Given the description of an element on the screen output the (x, y) to click on. 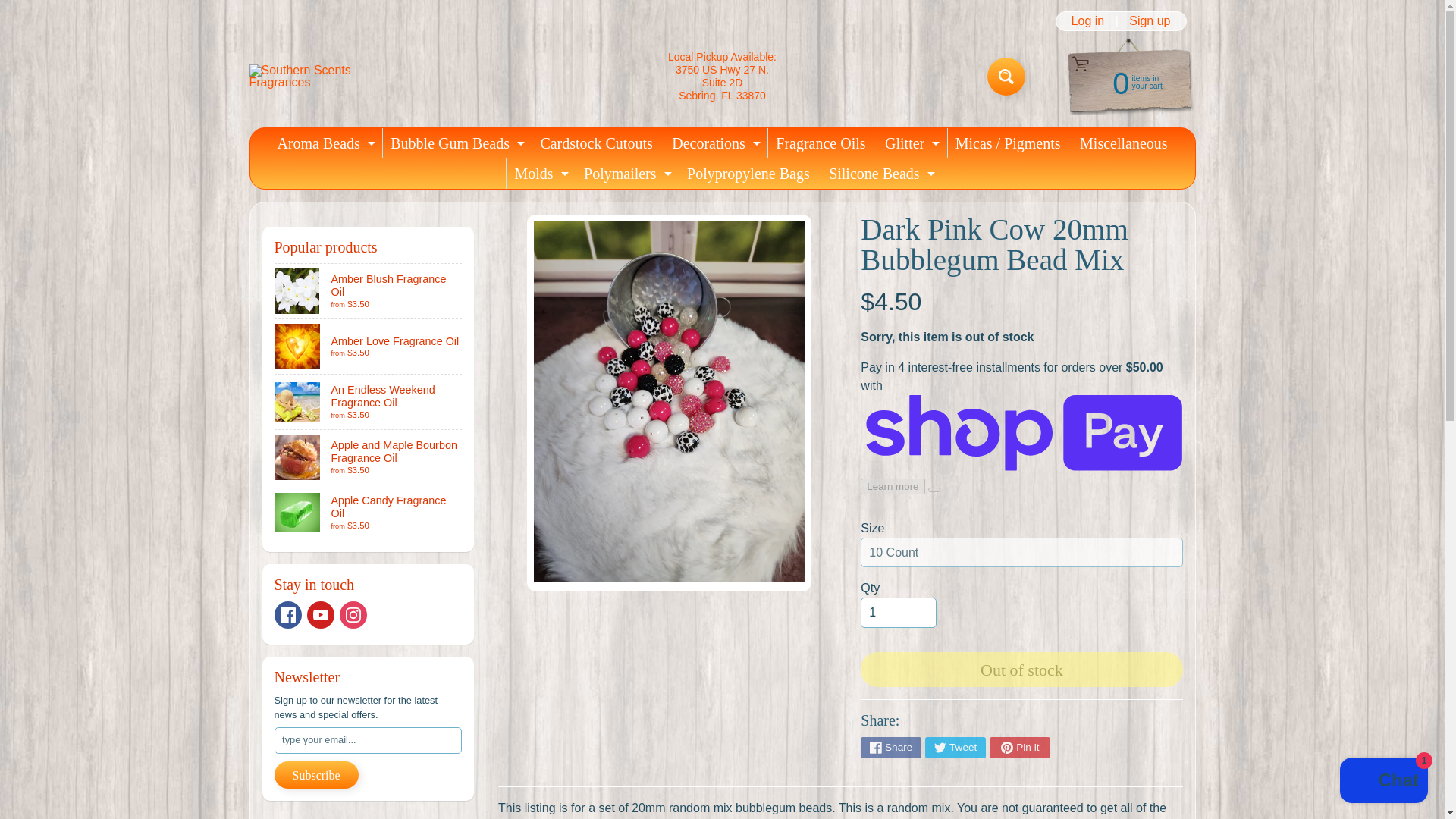
Pin on Pinterest (455, 142)
Skip to content (1019, 747)
Search (22, 8)
Tweet on Twitter (1006, 76)
Search (954, 747)
Facebook (910, 142)
Apple and Maple Bourbon Fragrance Oil (1006, 76)
Amber Blush Fragrance Oil (288, 614)
Miscellaneous (323, 142)
Southern Scents Fragrances (369, 456)
Cardstock Cutouts (369, 290)
Amber Love Fragrance Oil (1122, 142)
